Given the description of an element on the screen output the (x, y) to click on. 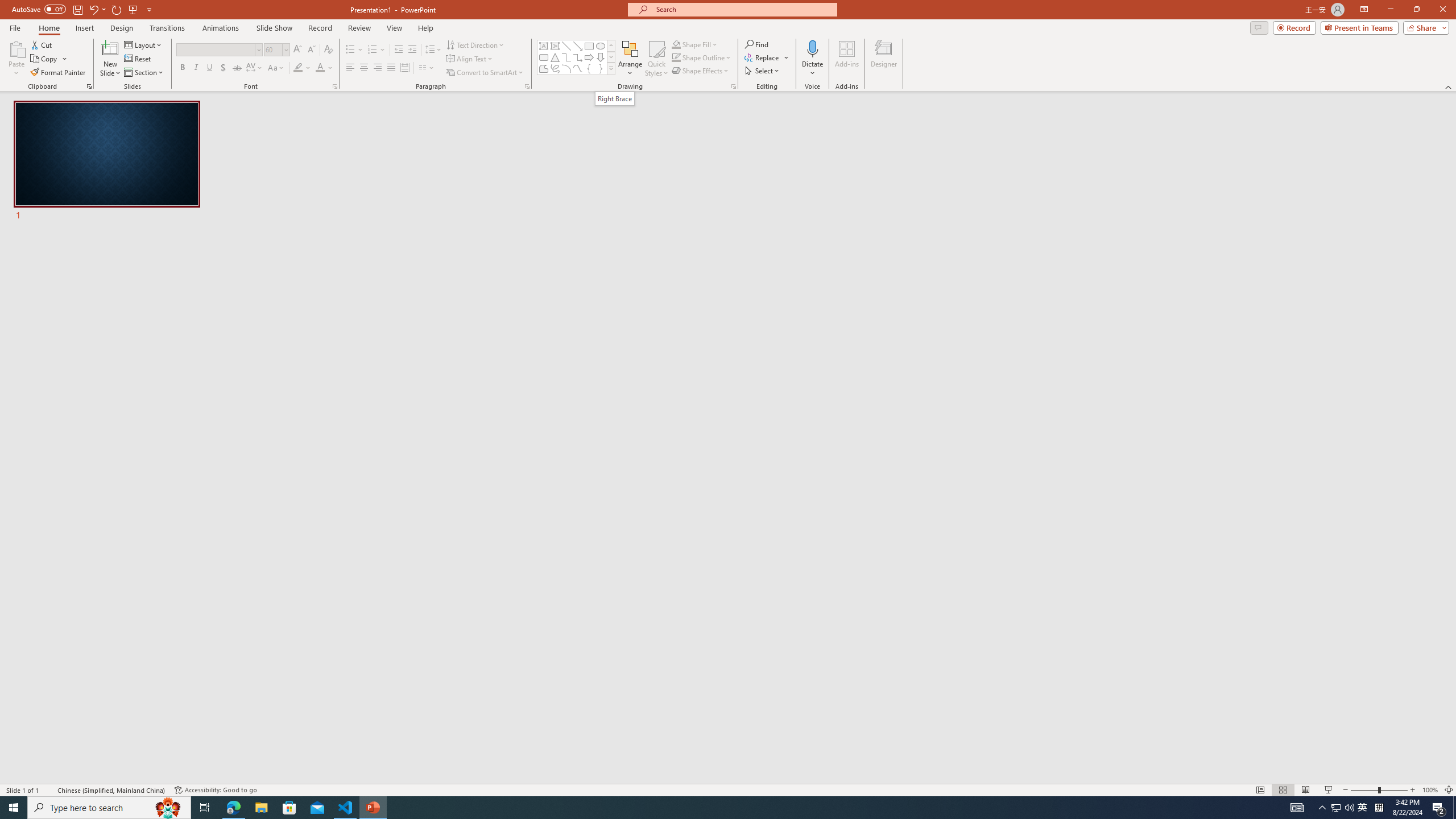
Select (762, 69)
Change Case (276, 67)
Paragraph... (526, 85)
